Given the description of an element on the screen output the (x, y) to click on. 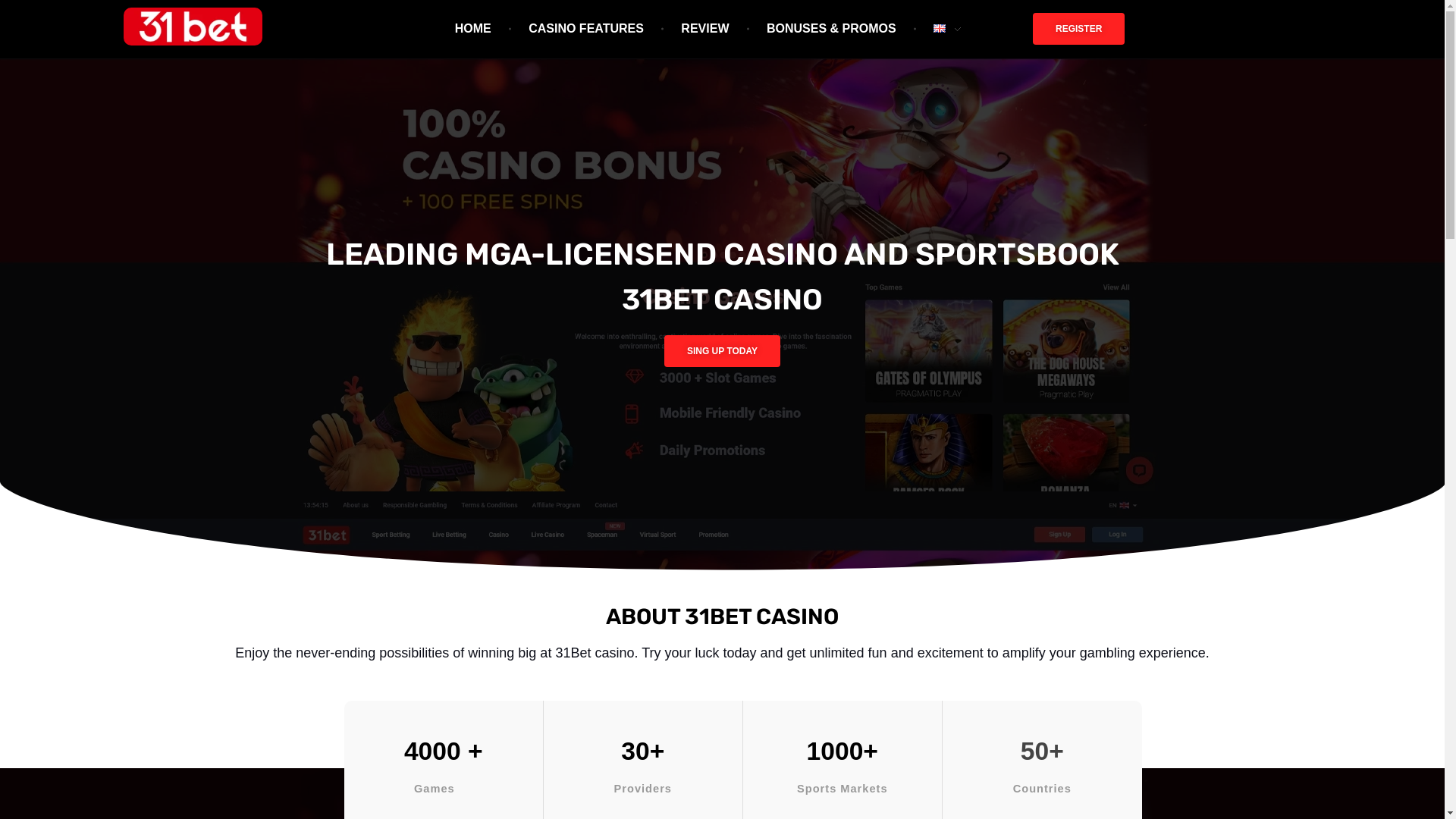
31Bet Casino | MGA Casino & Sportsbetting Review Element type: hover (191, 26)
REGISTER Element type: text (1078, 28)
BONUSES & PROMOS Element type: text (833, 28)
SING UP TODAY Element type: text (722, 351)
REVIEW Element type: text (707, 28)
31Bet Casino | MGA Casino & Sportsbetting Review Element type: text (346, 53)
CASINO FEATURES Element type: text (588, 28)
HOME Element type: text (483, 28)
